Given the description of an element on the screen output the (x, y) to click on. 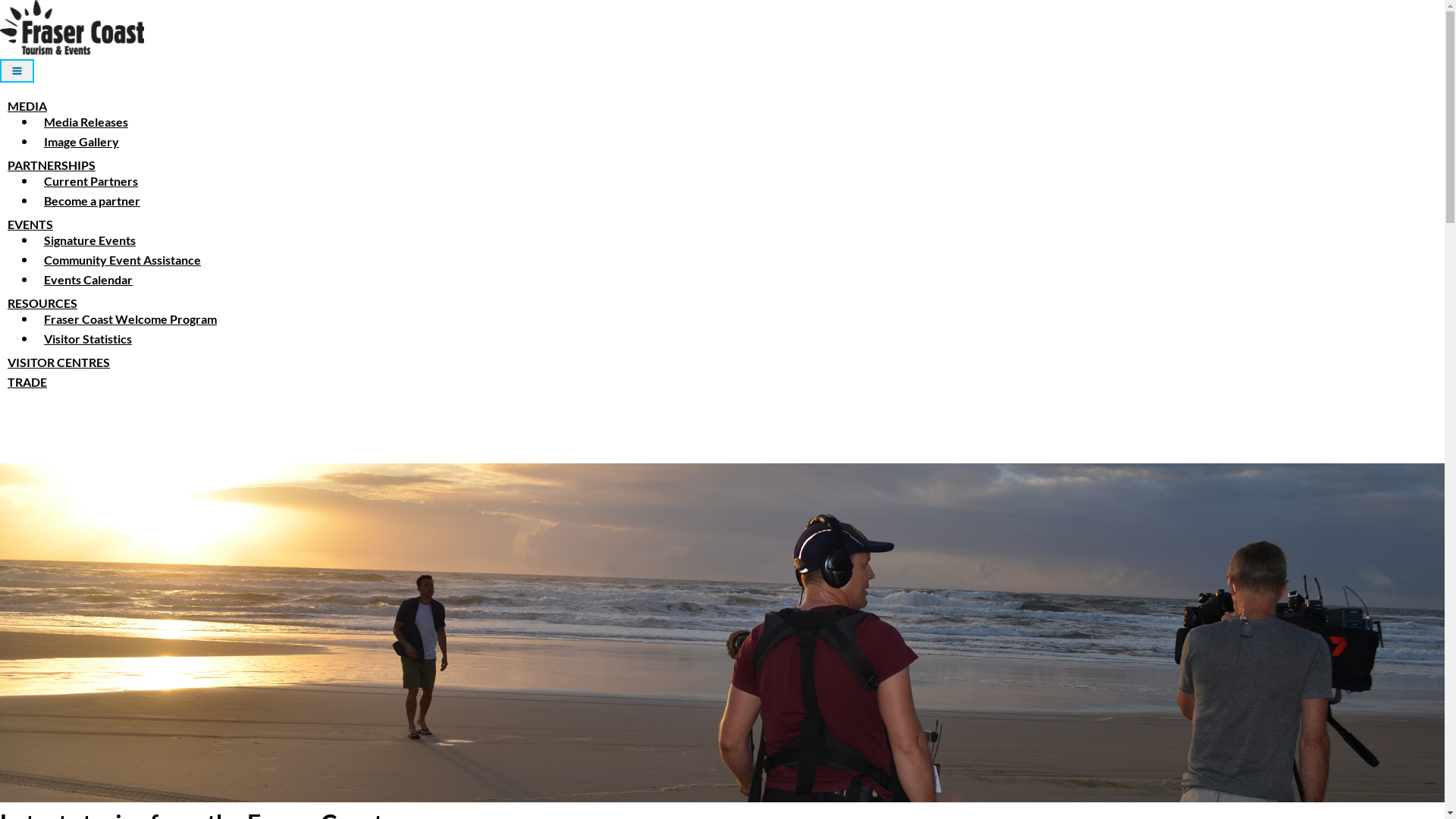
RESOURCES Element type: text (42, 302)
MEDIA Element type: text (27, 105)
Signature Events Element type: text (89, 240)
VISITOR CENTRES Element type: text (58, 361)
Events Calendar Element type: text (88, 279)
Media Releases Element type: text (85, 121)
Fraser Coast Welcome Program Element type: text (130, 318)
Current Partners Element type: text (90, 180)
EVENTS Element type: text (30, 223)
Community Event Assistance Element type: text (122, 259)
TRADE Element type: text (27, 381)
Image Gallery Element type: text (81, 141)
PARTNERSHIPS Element type: text (51, 164)
Become a partner Element type: text (91, 200)
Visitor Statistics Element type: text (87, 338)
